Given the description of an element on the screen output the (x, y) to click on. 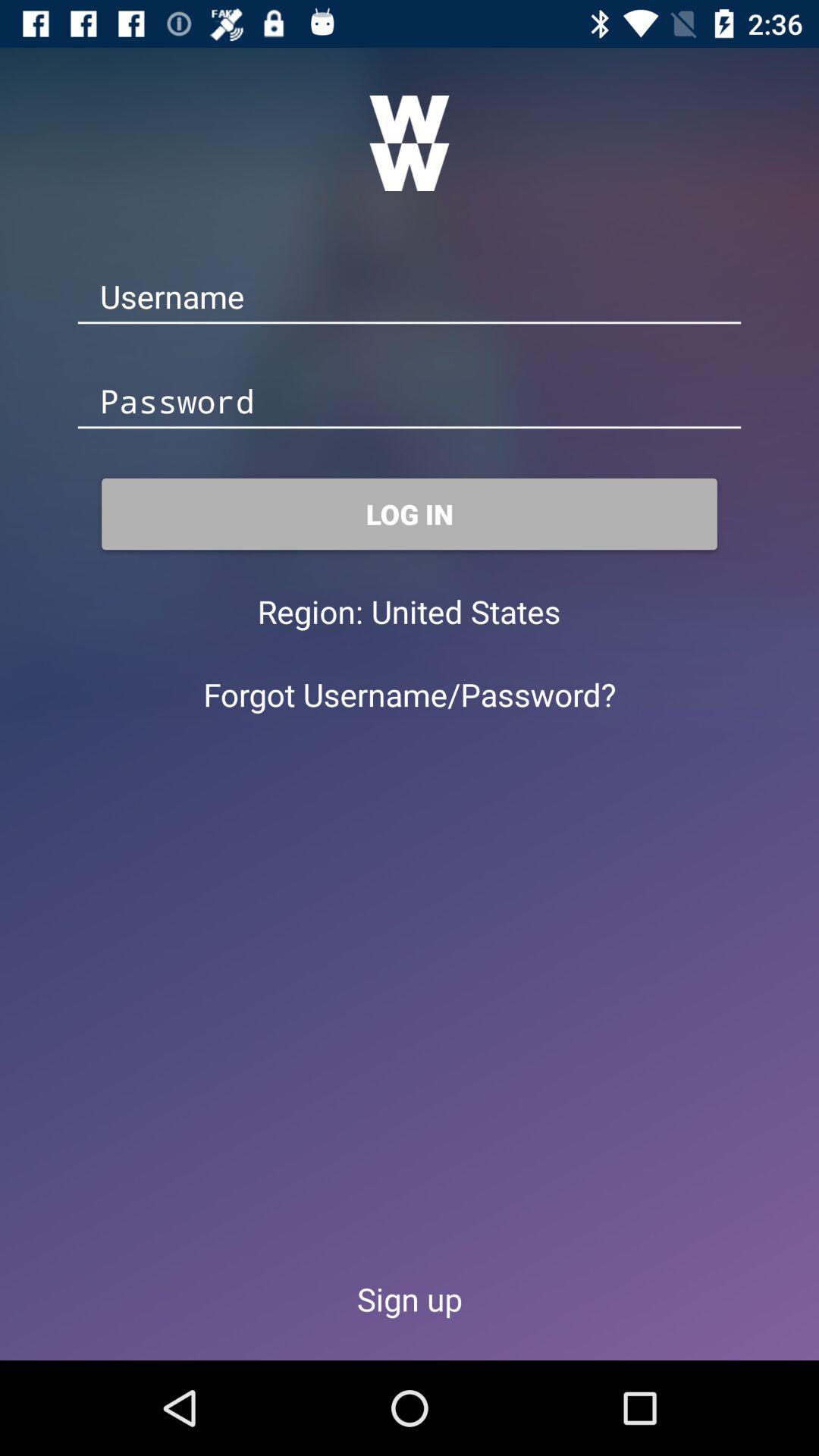
enter password (409, 402)
